Given the description of an element on the screen output the (x, y) to click on. 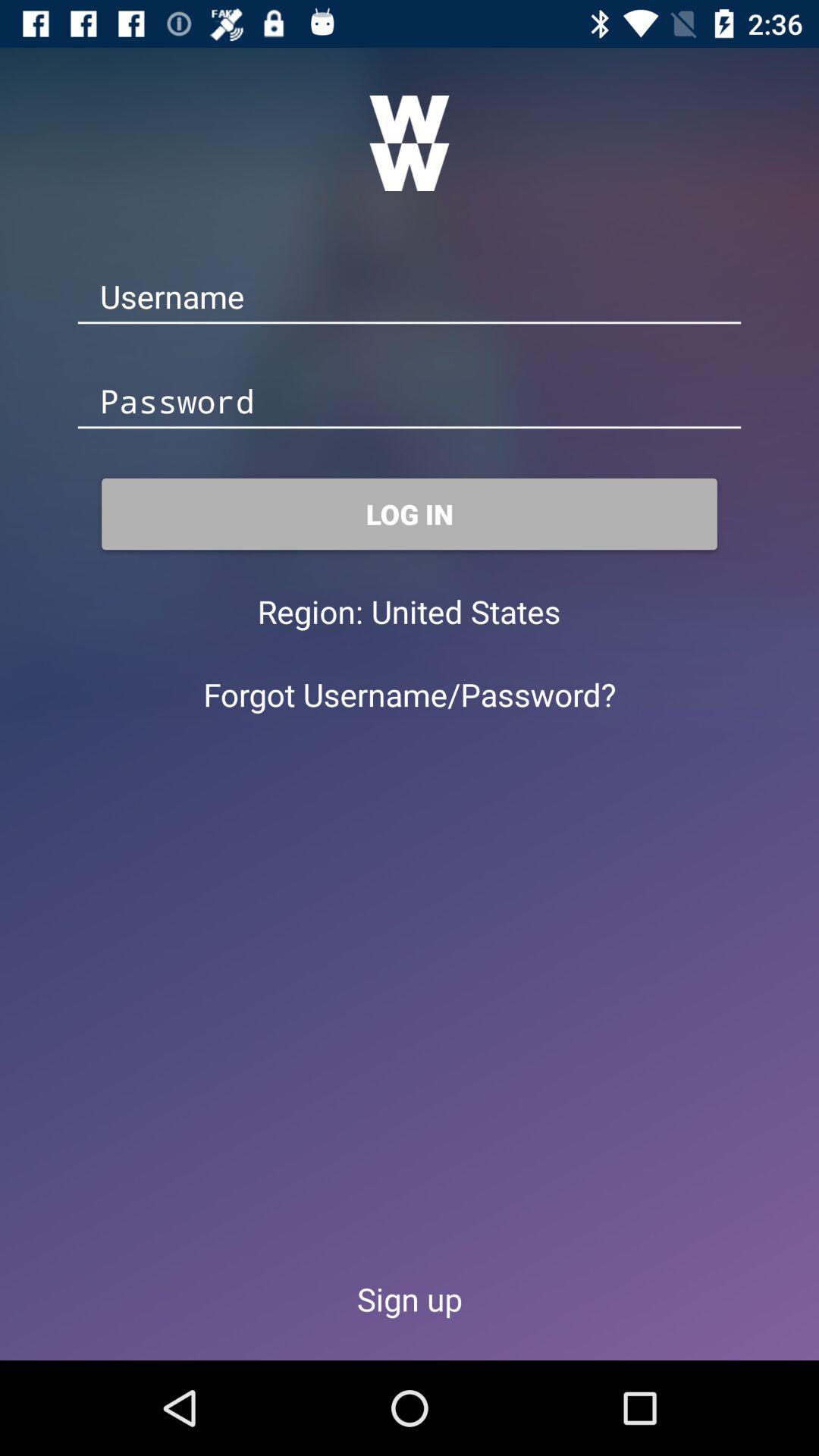
enter password (409, 402)
